Given the description of an element on the screen output the (x, y) to click on. 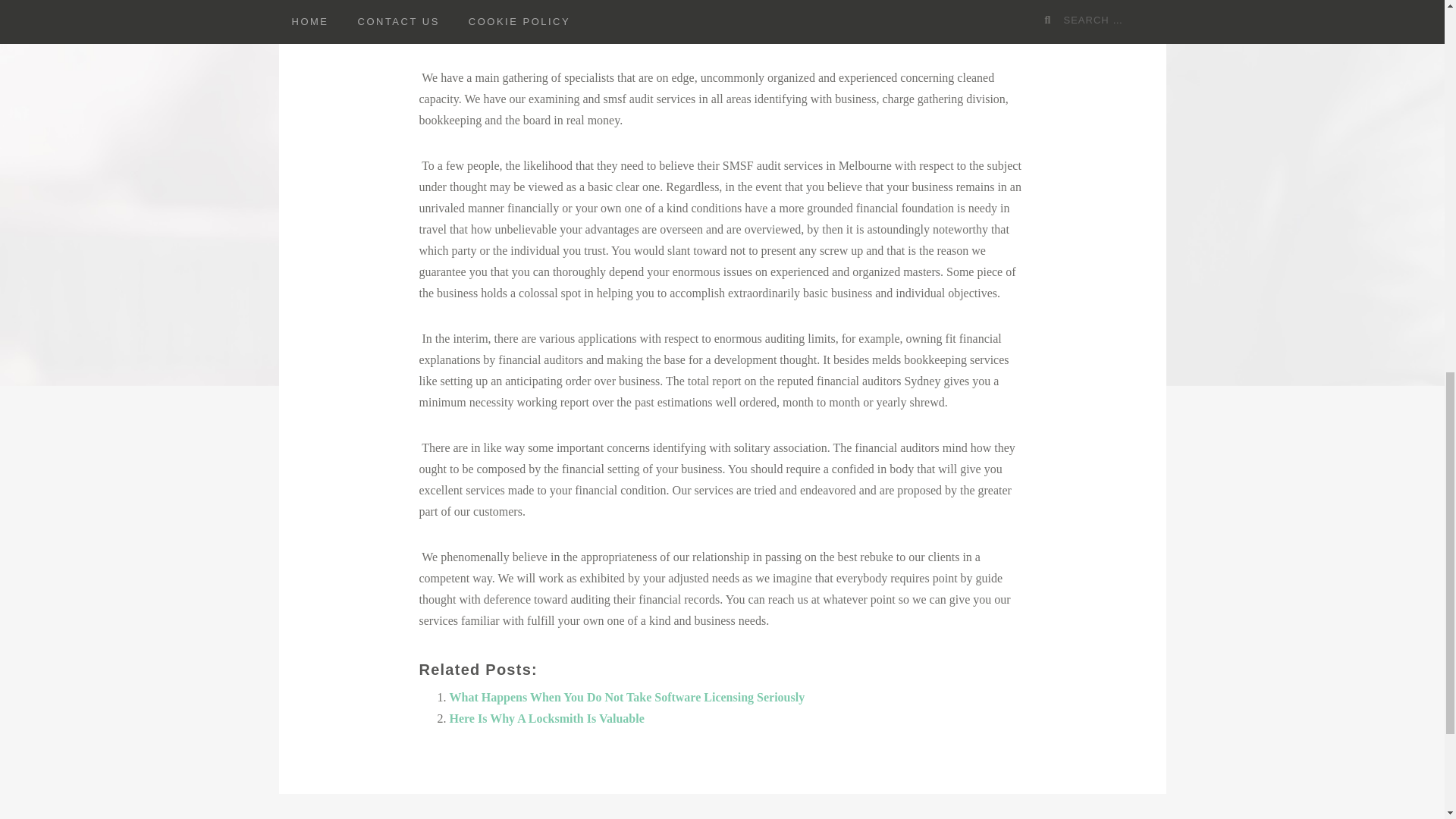
Here Is Why A Locksmith Is Valuable (545, 717)
financ.jpg (722, 21)
Here Is Why A Locksmith Is Valuable (545, 717)
